Given the description of an element on the screen output the (x, y) to click on. 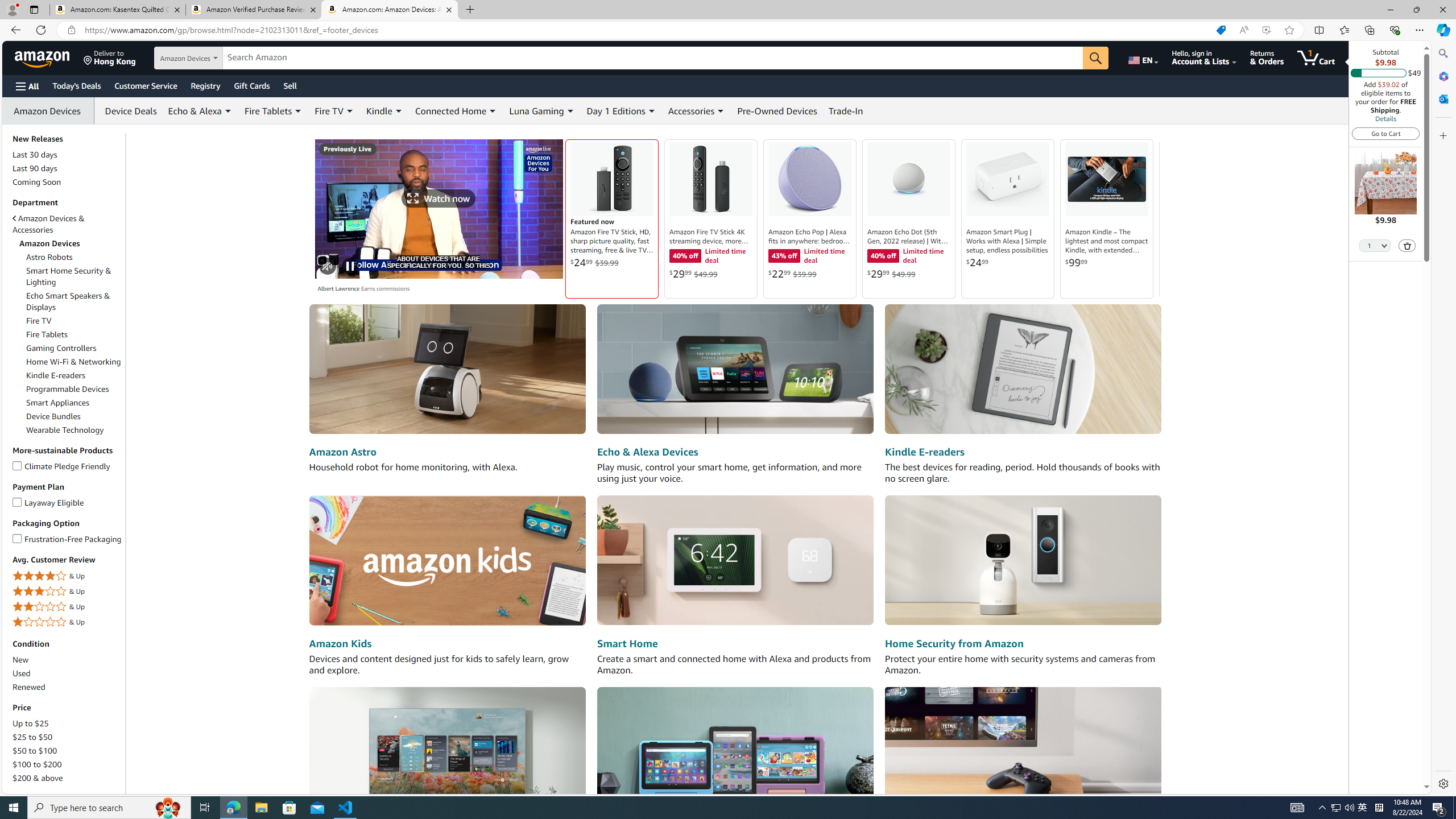
Renewed (67, 686)
Last 90 days (34, 167)
Go (1096, 57)
Amazon (43, 57)
Smart Home devices (734, 560)
Echo & Alexa Devices (647, 451)
Luna Gaming (536, 110)
Pre-Owned Devices (776, 110)
Last 30 days (34, 154)
$100 to $200 (37, 764)
Programmable Devices (67, 388)
Home Security from Amazon (953, 643)
